Given the description of an element on the screen output the (x, y) to click on. 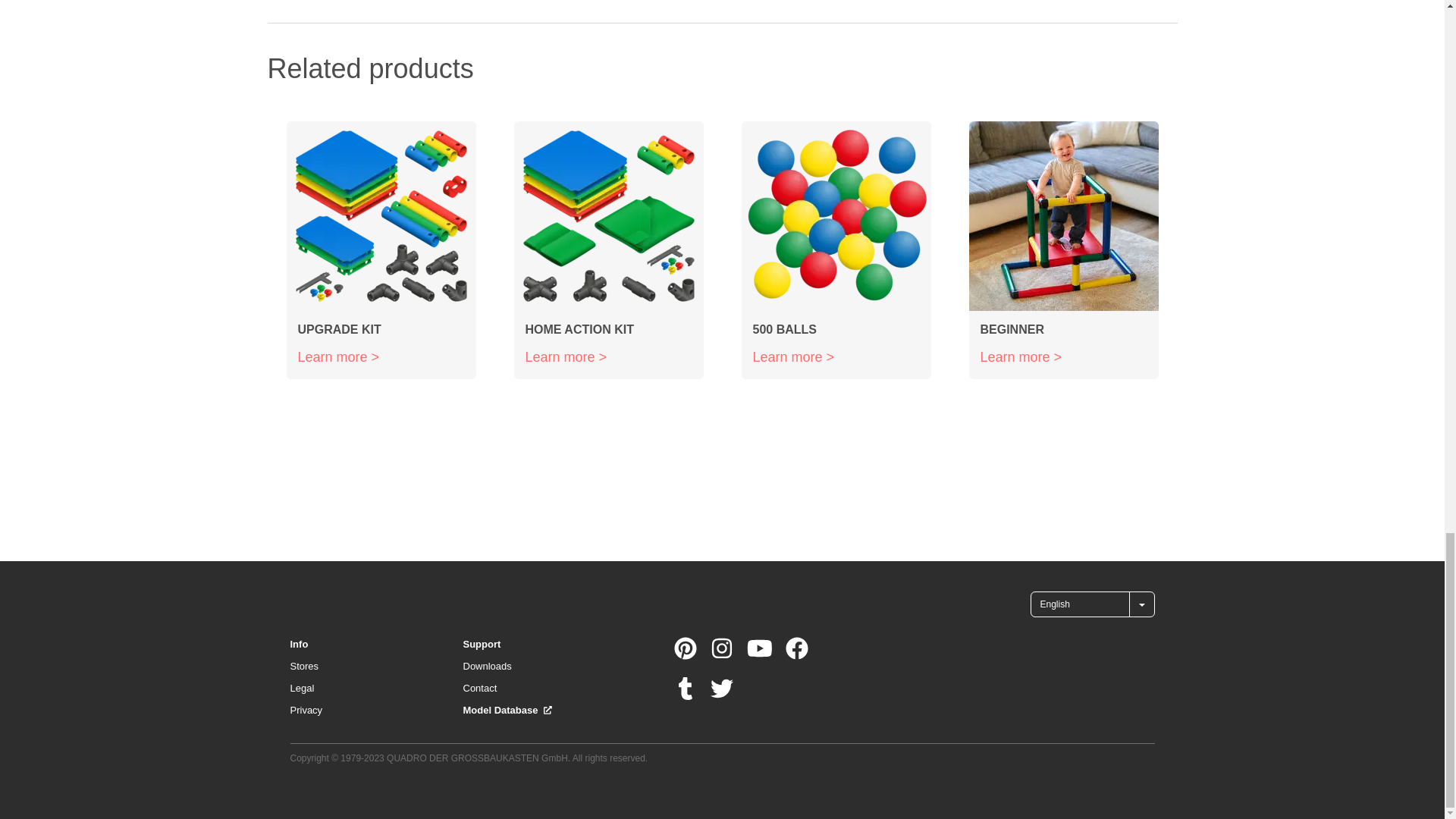
Toggle Dropdown (1141, 604)
English (1079, 604)
